Given the description of an element on the screen output the (x, y) to click on. 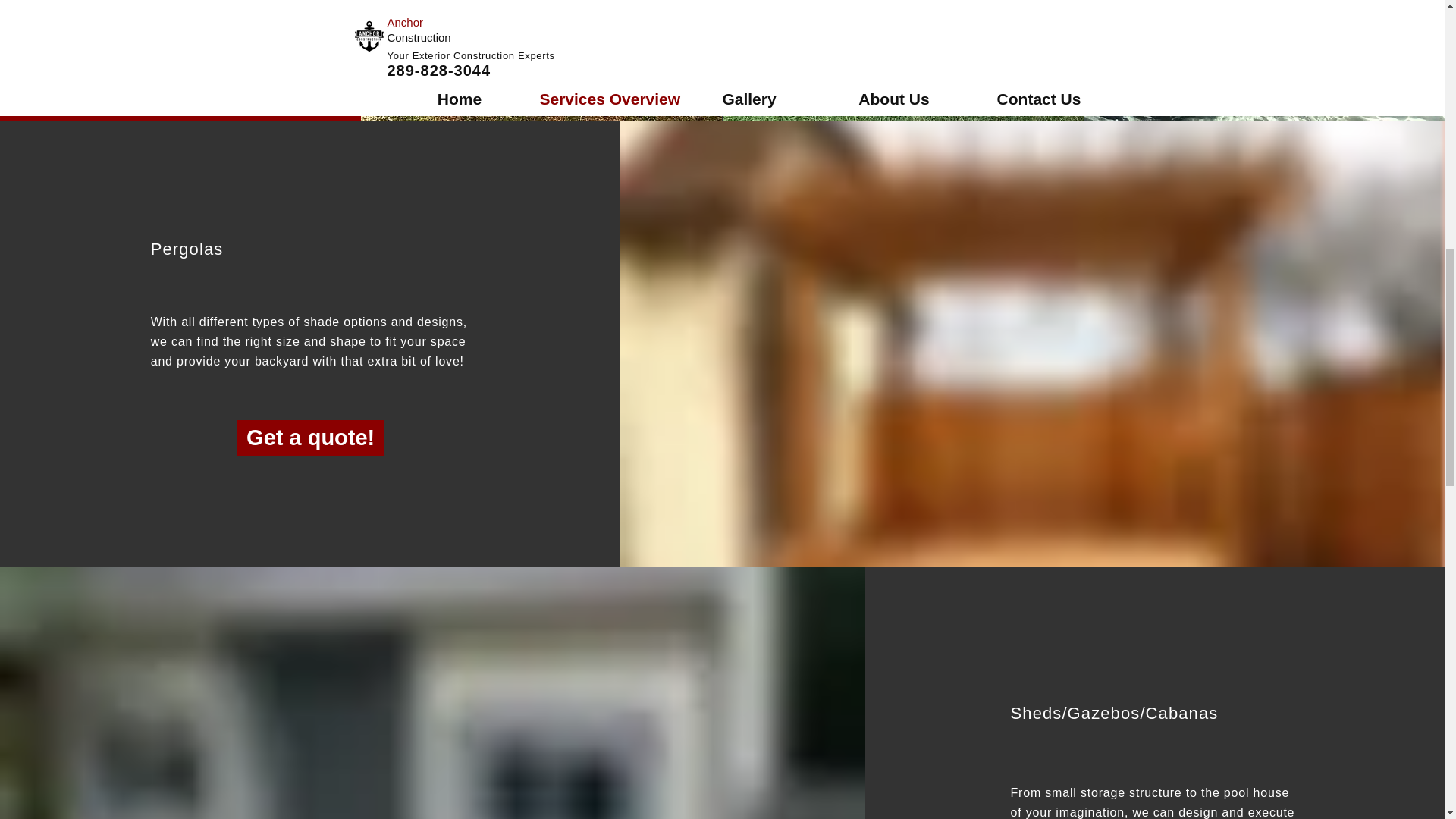
Get a quote! (310, 437)
Get a quote! (181, 50)
